Given the description of an element on the screen output the (x, y) to click on. 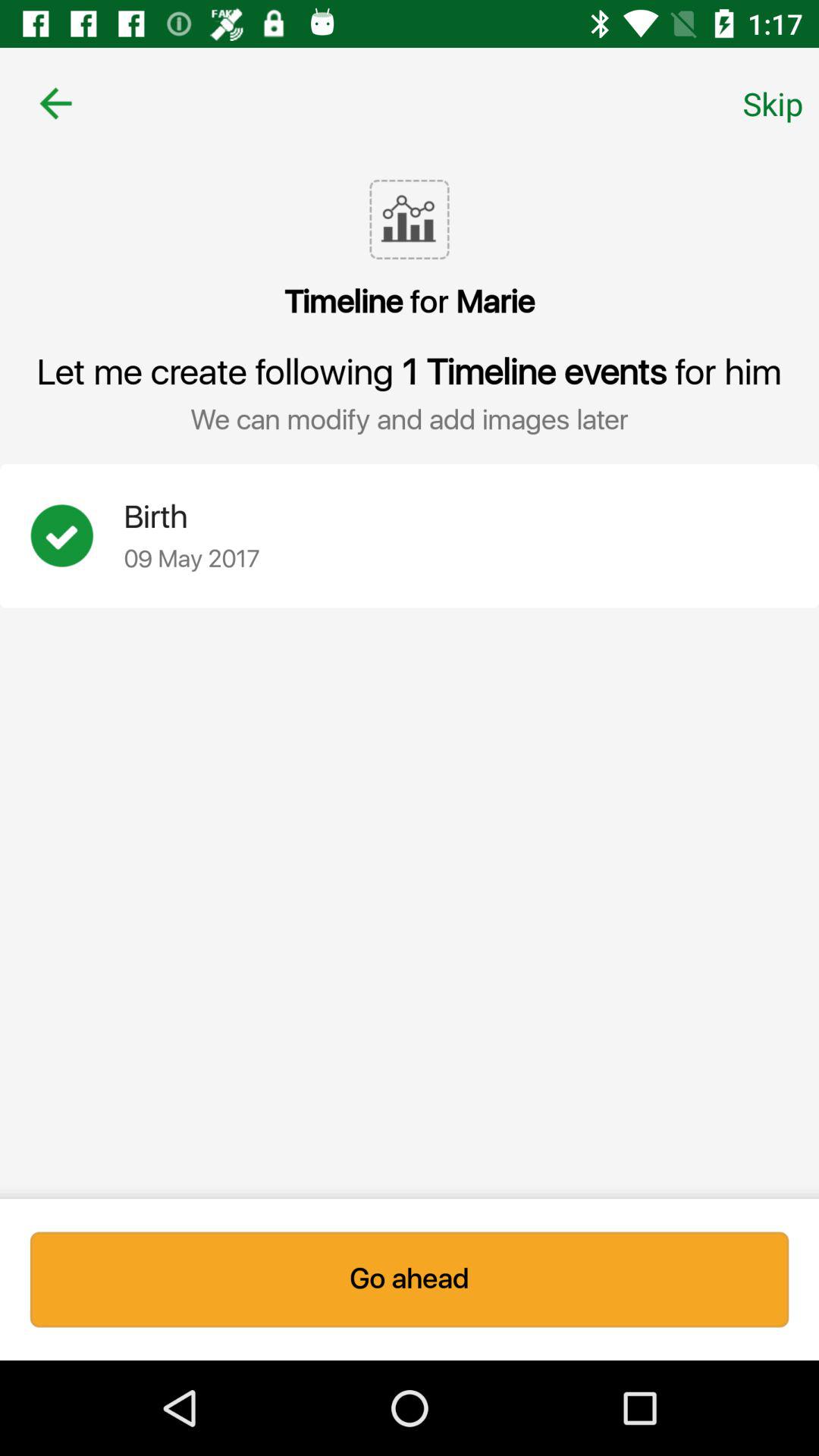
tap the icon to the left of skip item (55, 103)
